Given the description of an element on the screen output the (x, y) to click on. 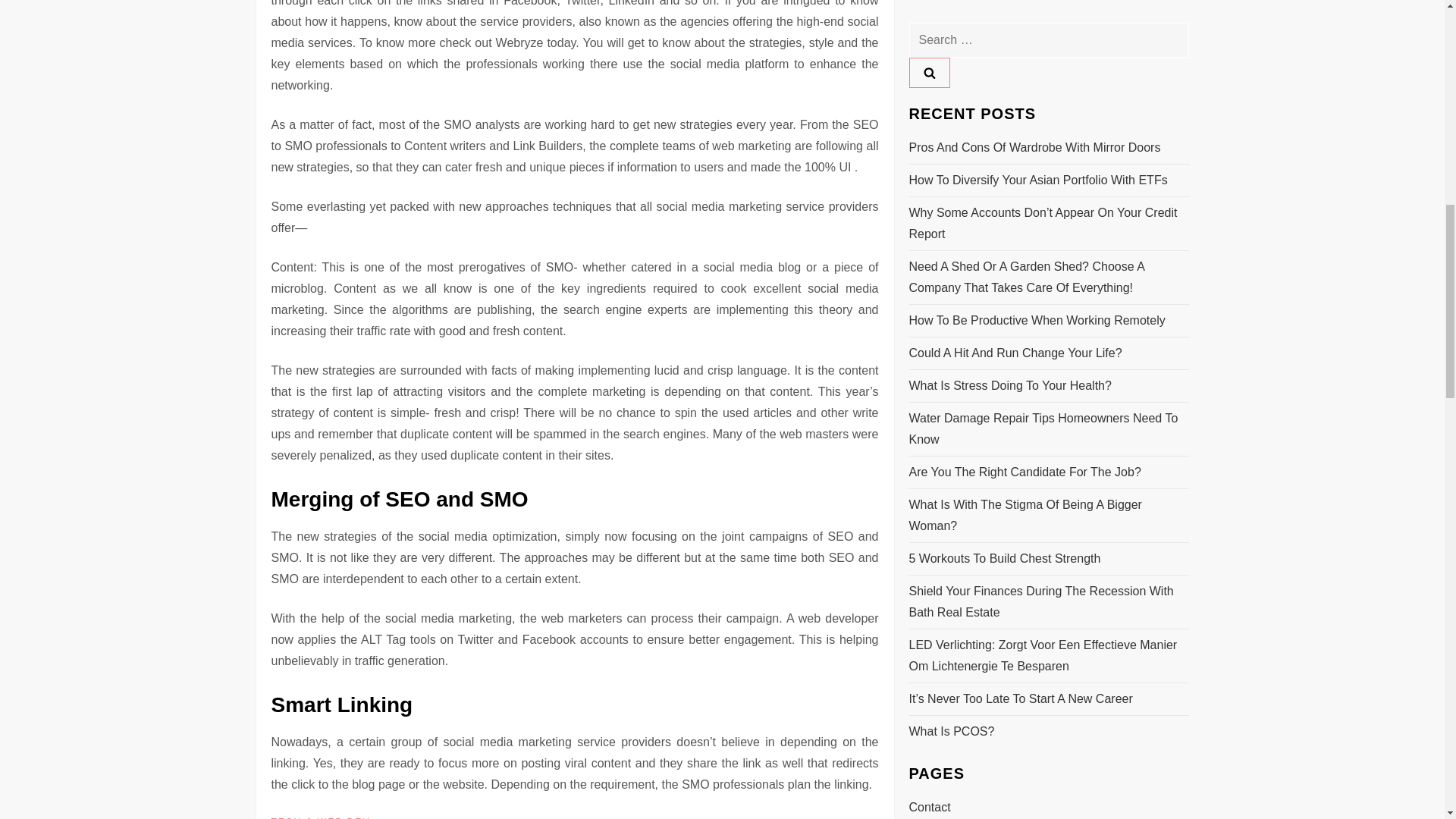
Contact (929, 135)
What Is PCOS? (951, 59)
